Given the description of an element on the screen output the (x, y) to click on. 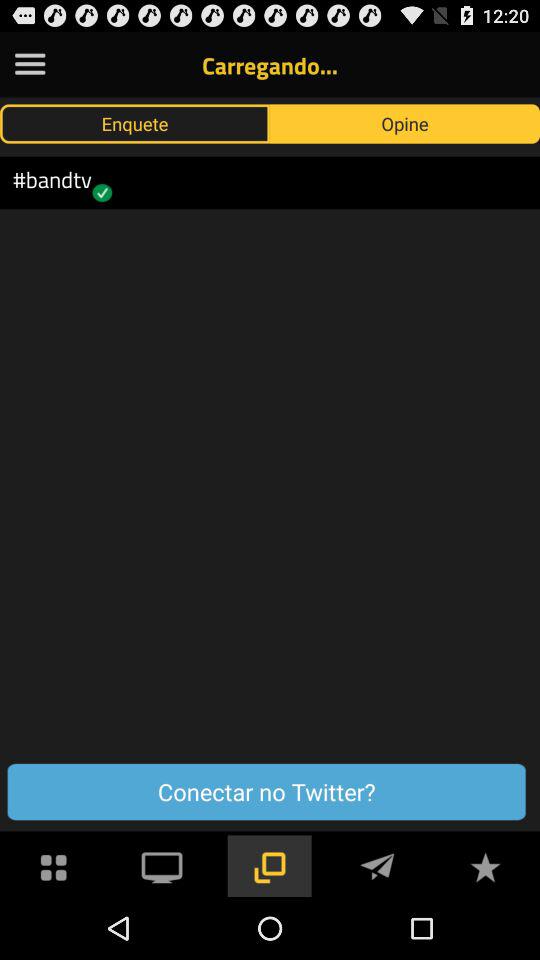
turn on the icon to the left of opine (135, 123)
